Given the description of an element on the screen output the (x, y) to click on. 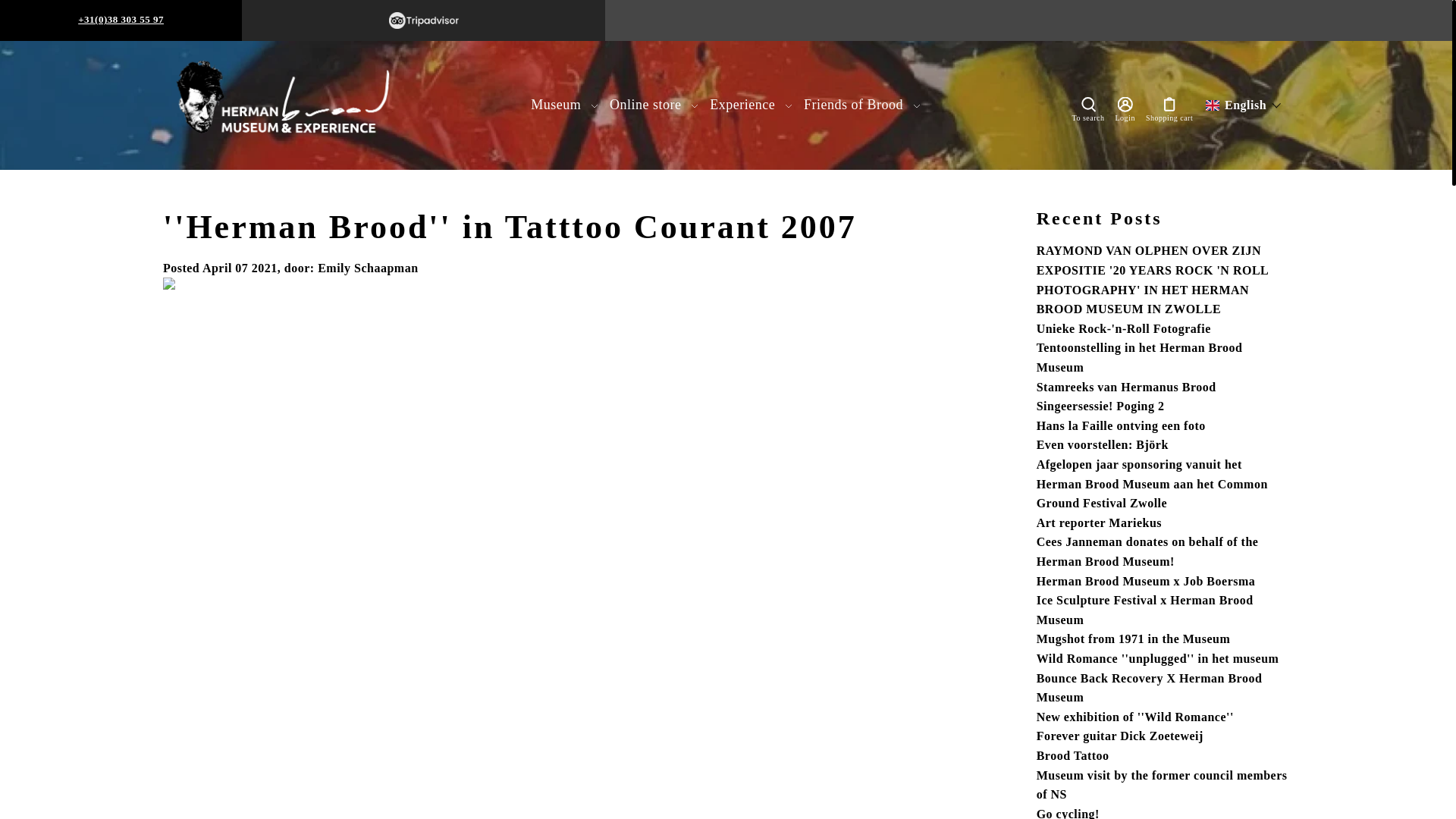
Museum visit by the former council members of NS (1161, 785)
Art reporter Mariekus  (1098, 522)
Brood Tattoo (1072, 755)
Mugshot from 1971 in the Museum (1133, 638)
Cees Janneman donates on behalf of the Herman Brood Museum! (1147, 551)
Singeersessie! Poging 2 (1100, 405)
Stamreeks van Hermanus Brood (1125, 386)
Experience (750, 105)
